Given the description of an element on the screen output the (x, y) to click on. 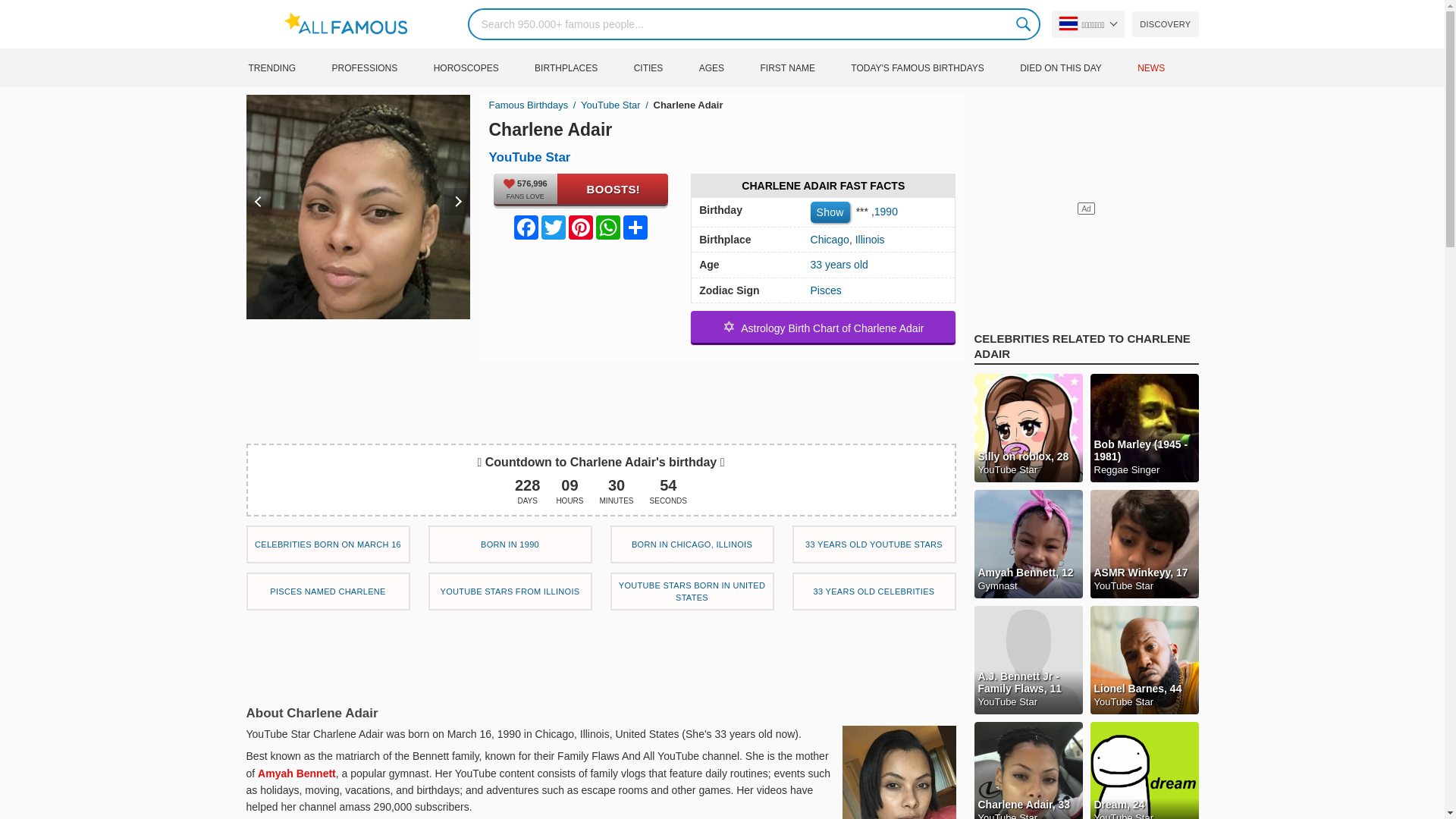
HOROSCOPES (481, 67)
NEWS (1166, 67)
CITIES (664, 67)
Top 200 Celebrities born in Chicago, Illinois (691, 544)
Discover famous people (1165, 23)
TODAY'S FAMOUS BIRTHDAYS (932, 67)
AGES (727, 67)
TRENDING (287, 67)
Top 200 Famous people turn 33 (873, 591)
DIED ON THIS DAY (1076, 67)
I love Charlene Adair! (580, 188)
Top 200 Celebrities born in 1990 (509, 544)
AllFamous.org (353, 23)
FIRST NAME (802, 67)
PROFESSIONS (380, 67)
